Given the description of an element on the screen output the (x, y) to click on. 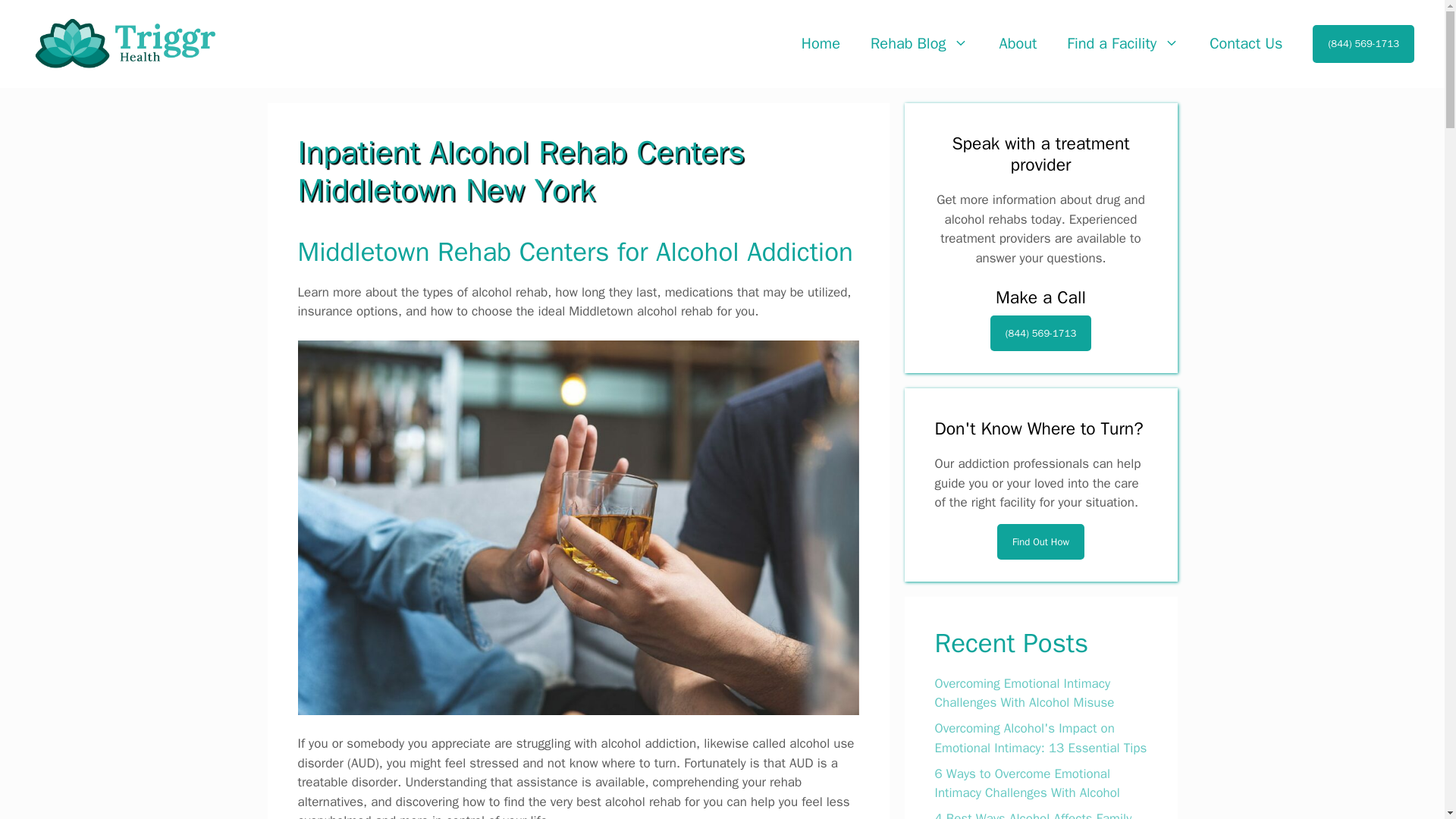
Home (821, 43)
Overcoming Emotional Intimacy Challenges With Alcohol Misuse (1023, 693)
Find a Facility (1122, 43)
Find Out How (1040, 541)
Contact Us (1245, 43)
4 Best Ways Alcohol Affects Family Dynamics (1032, 814)
About (1017, 43)
Rehab Blog (920, 43)
